Given the description of an element on the screen output the (x, y) to click on. 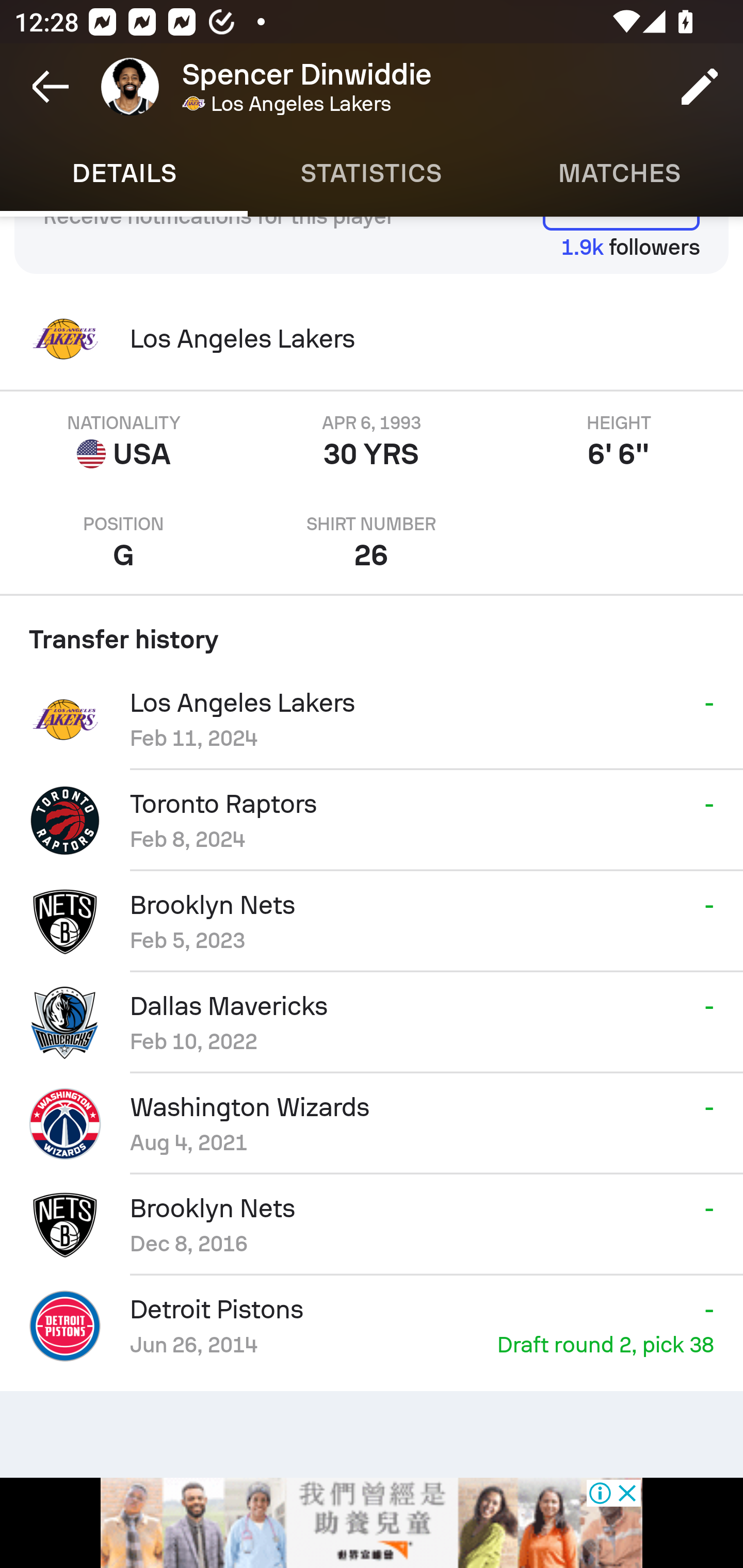
Navigate up (50, 86)
Edit (699, 86)
Statistics STATISTICS (371, 173)
Matches MATCHES (619, 173)
Los Angeles Lakers (371, 338)
NATIONALITY USA (123, 442)
POSITION G (123, 543)
Transfer history (371, 632)
Los Angeles Lakers - Feb 11, 2024 (371, 719)
Toronto Raptors - Feb 8, 2024 (371, 820)
Brooklyn Nets - Feb 5, 2023 (371, 921)
Dallas Mavericks - Feb 10, 2022 (371, 1023)
Washington Wizards - Aug 4, 2021 (371, 1124)
Brooklyn Nets - Dec 8, 2016 (371, 1224)
Advertisement (371, 1522)
